Given the description of an element on the screen output the (x, y) to click on. 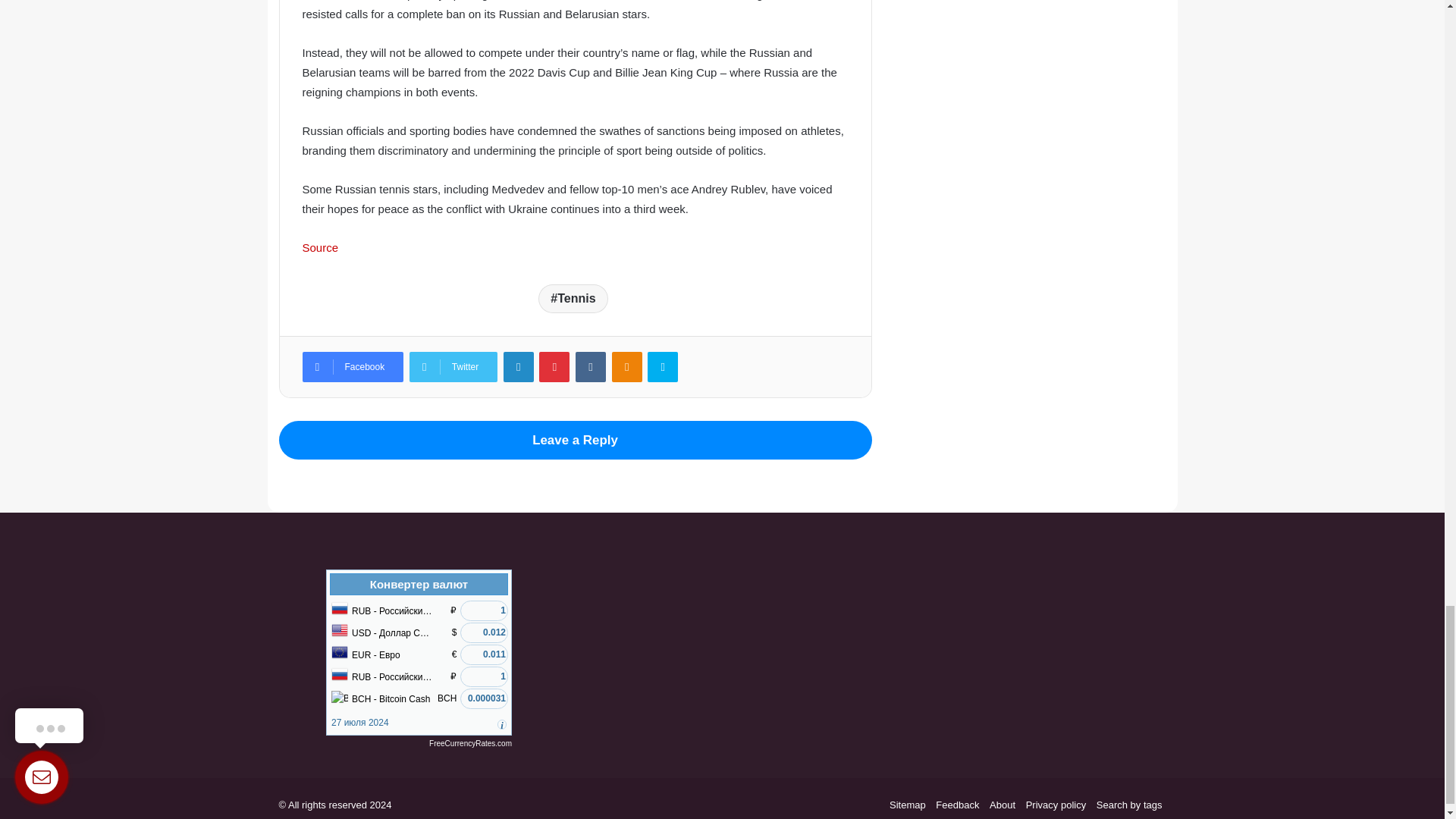
1 (484, 676)
0.011 (484, 654)
Source (319, 246)
LinkedIn (518, 367)
Facebook (352, 367)
Facebook (352, 367)
LinkedIn (518, 367)
0.012 (484, 632)
Tennis (572, 298)
Twitter (453, 367)
0.000031 (484, 698)
VKontakte (590, 367)
1 (484, 610)
Pinterest (553, 367)
Twitter (453, 367)
